Given the description of an element on the screen output the (x, y) to click on. 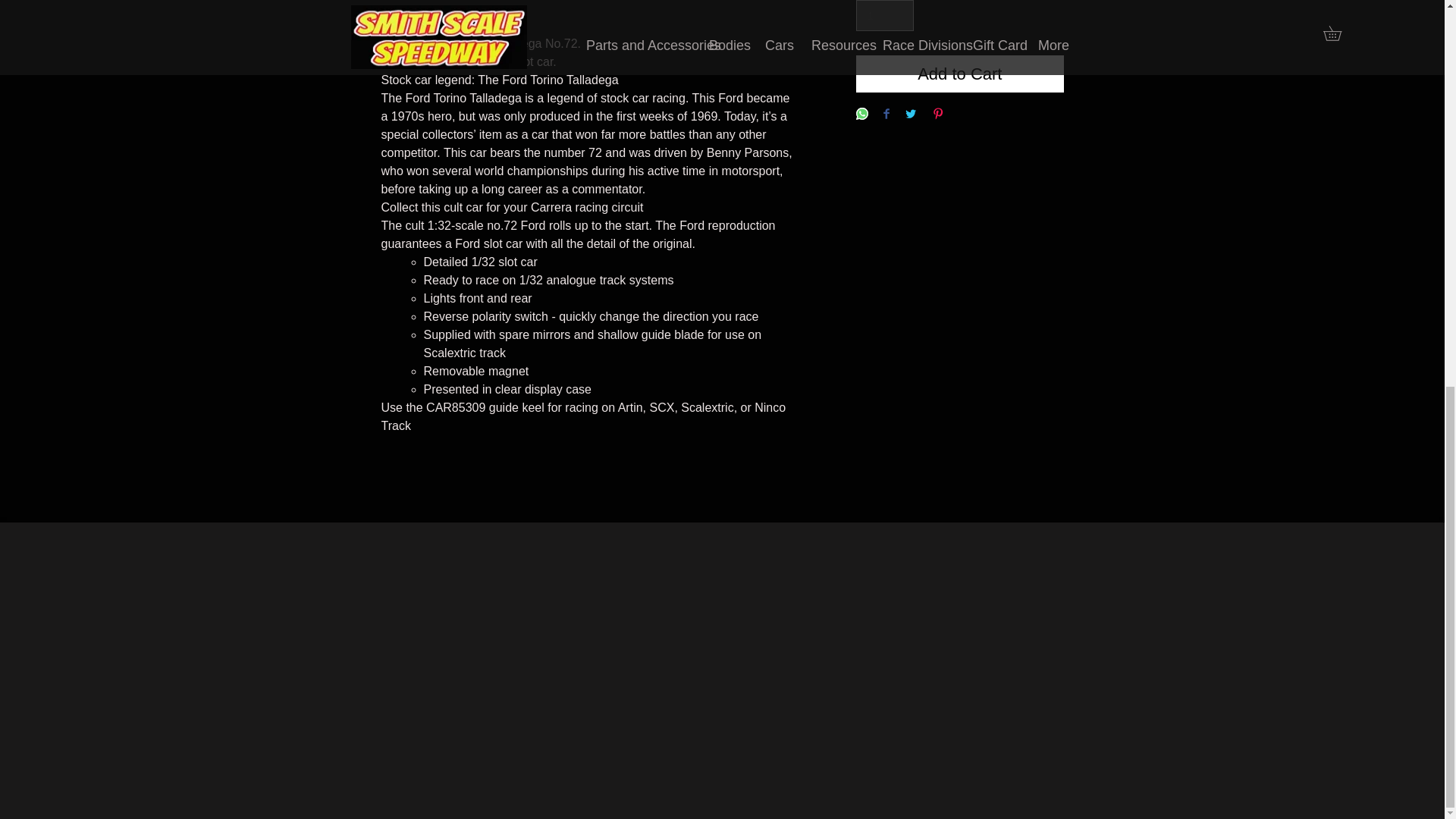
1 (885, 15)
